Given the description of an element on the screen output the (x, y) to click on. 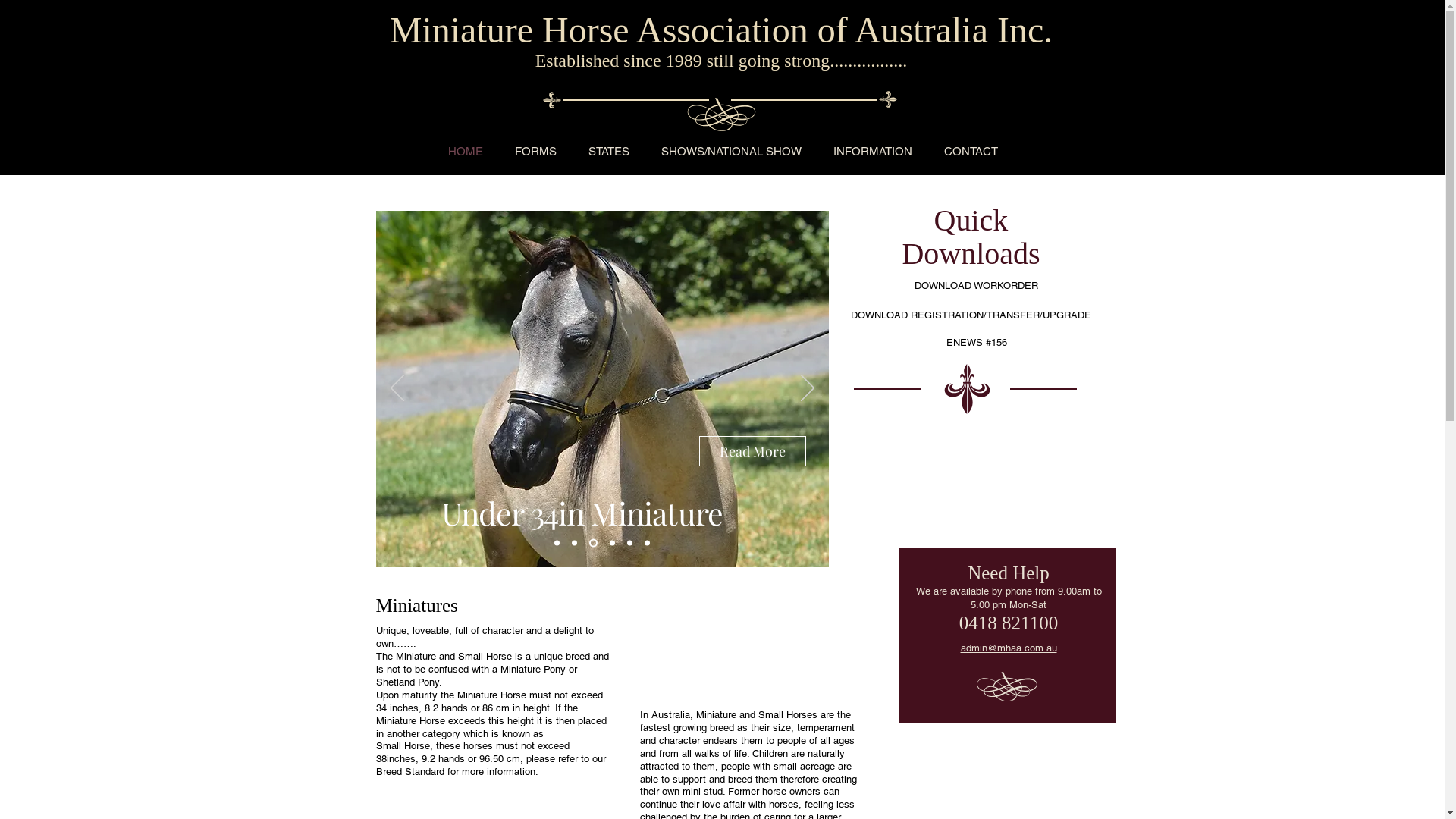
DOWNLOAD WORKORDER Element type: text (975, 285)
Read More Element type: text (1063, 432)
admin@mhaa.com.au Element type: text (1008, 647)
Established since 1989 still going strong................. Element type: text (721, 60)
DOWNLOAD REGISTRATION/TRANSFER/UPGRADE Element type: text (970, 315)
Miniature Horse Association of Australia Inc. Element type: text (720, 29)
ENEWS #156 Element type: text (976, 342)
HOME Element type: text (465, 150)
CONTACT Element type: text (970, 150)
Read More Element type: text (653, 295)
